Given the description of an element on the screen output the (x, y) to click on. 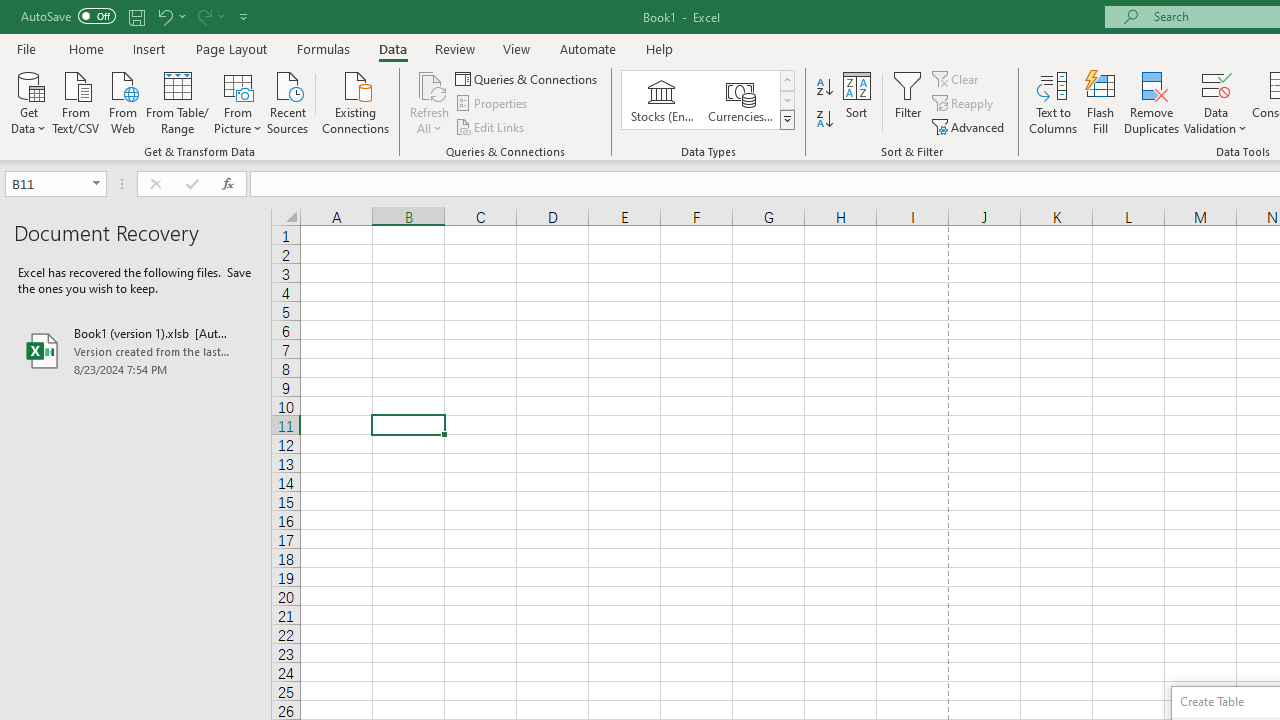
From Text/CSV (75, 101)
Reapply (964, 103)
Flash Fill (1101, 102)
Row Down (786, 100)
From Picture (238, 101)
Text to Columns... (1053, 102)
